Given the description of an element on the screen output the (x, y) to click on. 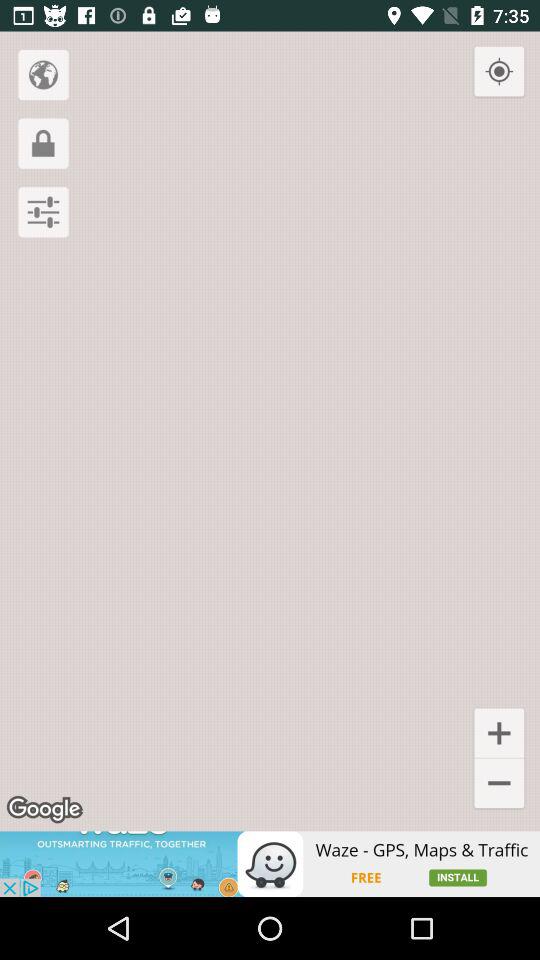
advertisement (270, 864)
